Given the description of an element on the screen output the (x, y) to click on. 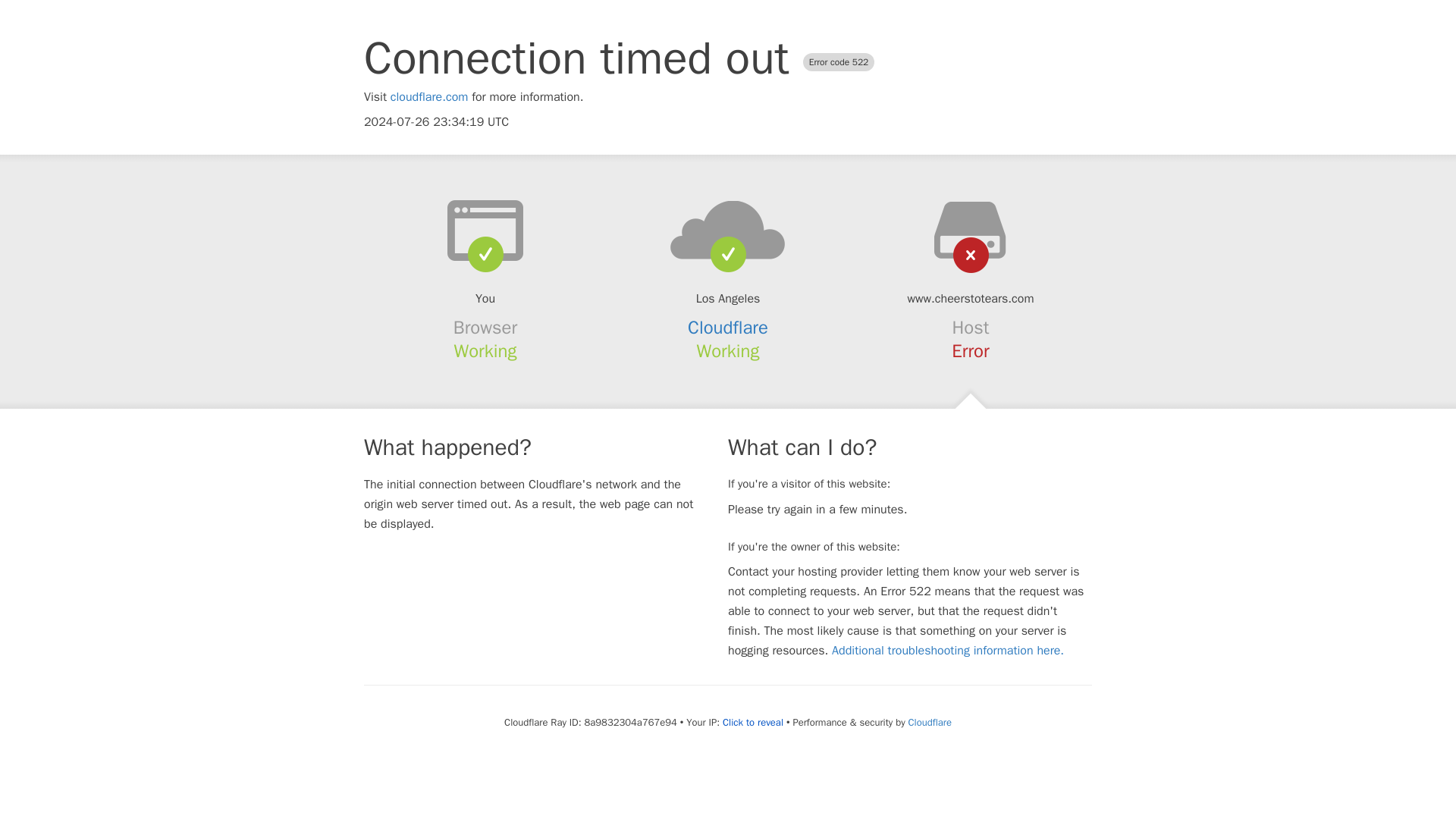
Click to reveal (752, 722)
Additional troubleshooting information here. (947, 650)
Cloudflare (930, 721)
Cloudflare (727, 327)
cloudflare.com (429, 96)
